Given the description of an element on the screen output the (x, y) to click on. 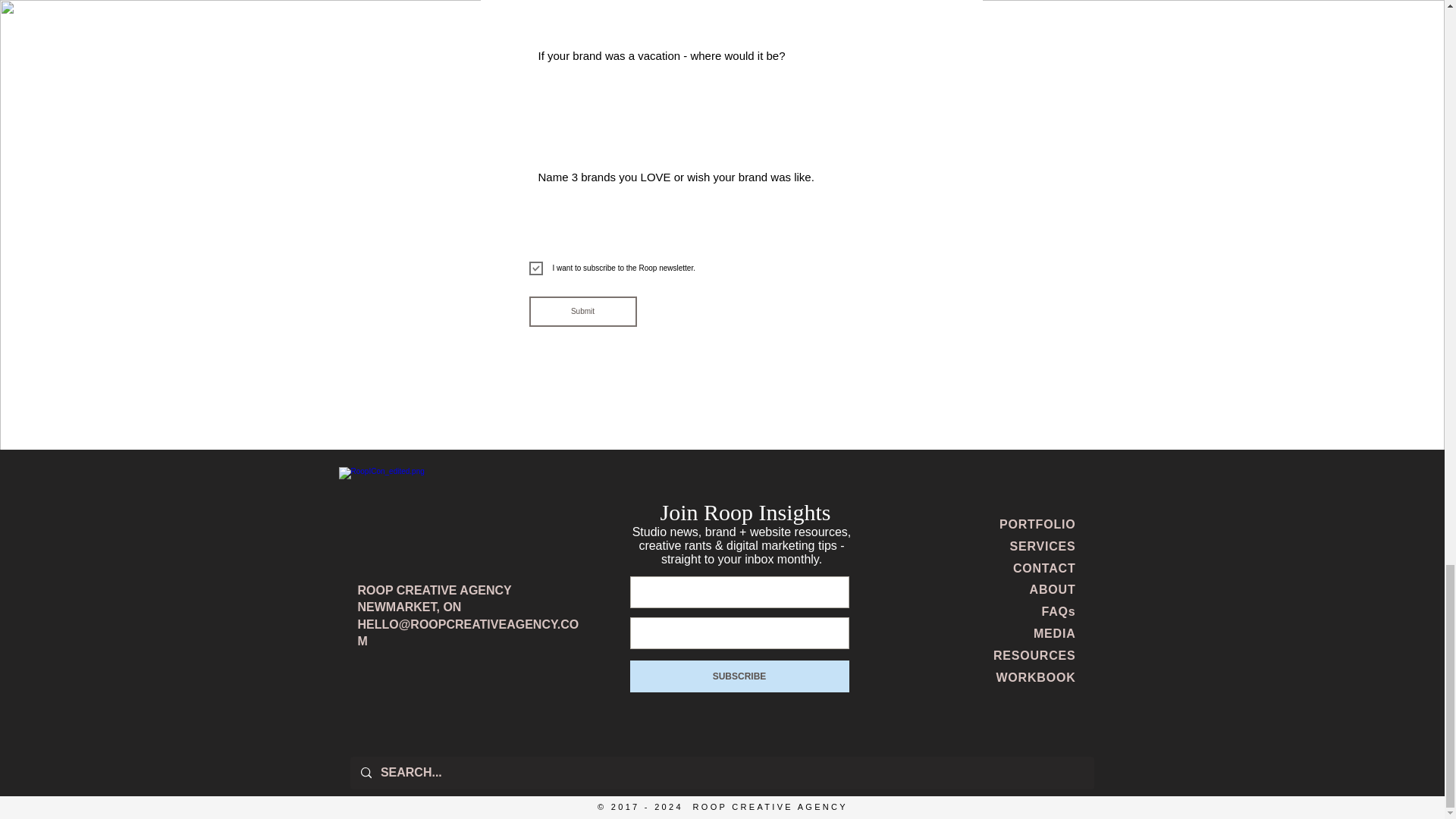
CONTACT (1044, 567)
ROOP CREATIVE AGENCY (435, 590)
SUBSCRIBE (738, 676)
SERVICES (1042, 545)
MEDIA (1054, 633)
RESOURCES (1033, 655)
PORTFOLIO (1036, 523)
ABOUT (1052, 589)
Submit (583, 311)
FAQs (1058, 611)
